Given the description of an element on the screen output the (x, y) to click on. 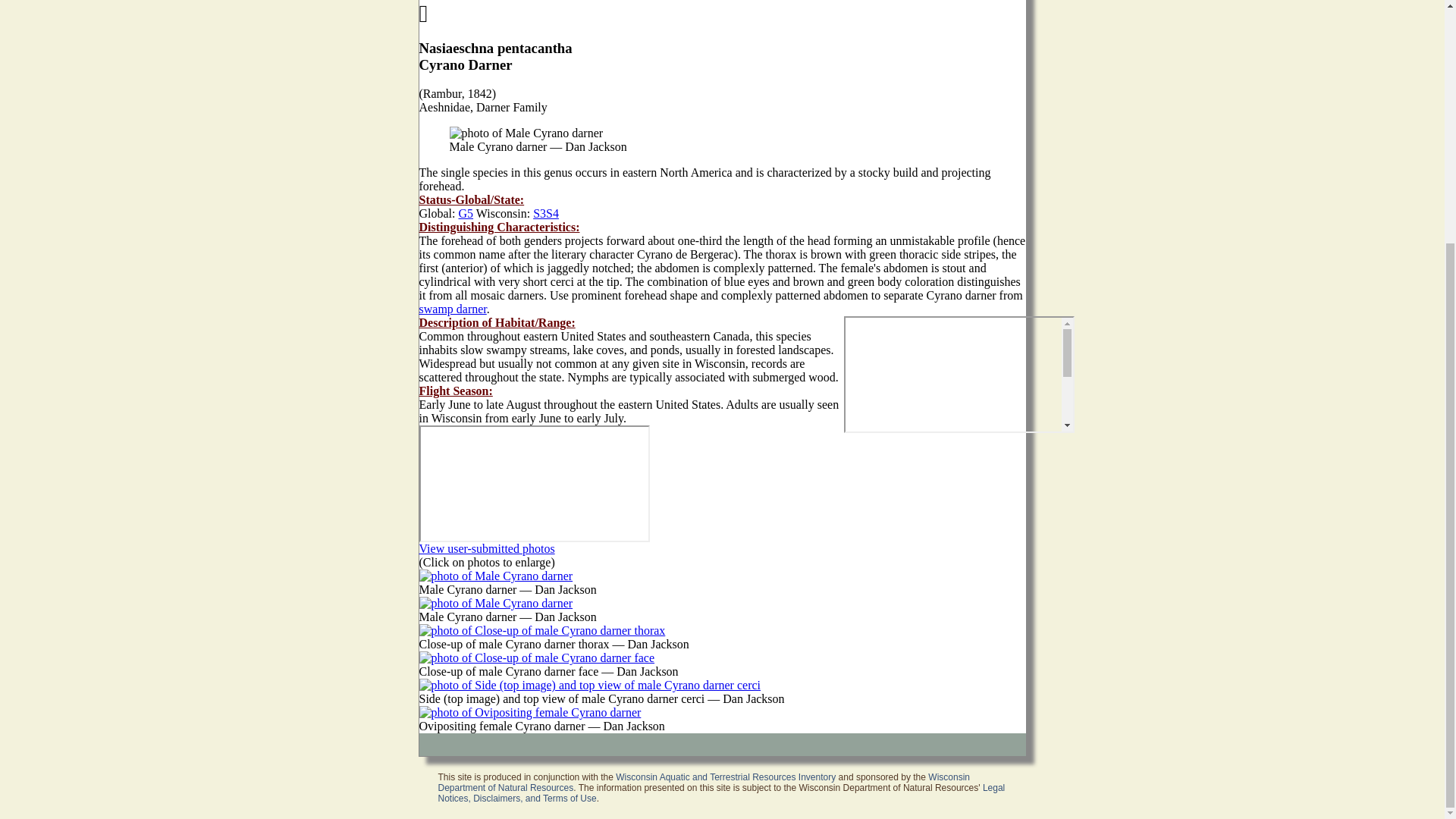
View user-submitted photos (486, 548)
S3S4 (545, 213)
G5 (465, 213)
swamp darner (452, 308)
Wisconsin Department of Natural Resources (704, 782)
Wisconsin Aquatic and Terrestrial Resources Inventory (725, 777)
Legal Notices, Disclaimers, and Terms of Use (722, 792)
